Given the description of an element on the screen output the (x, y) to click on. 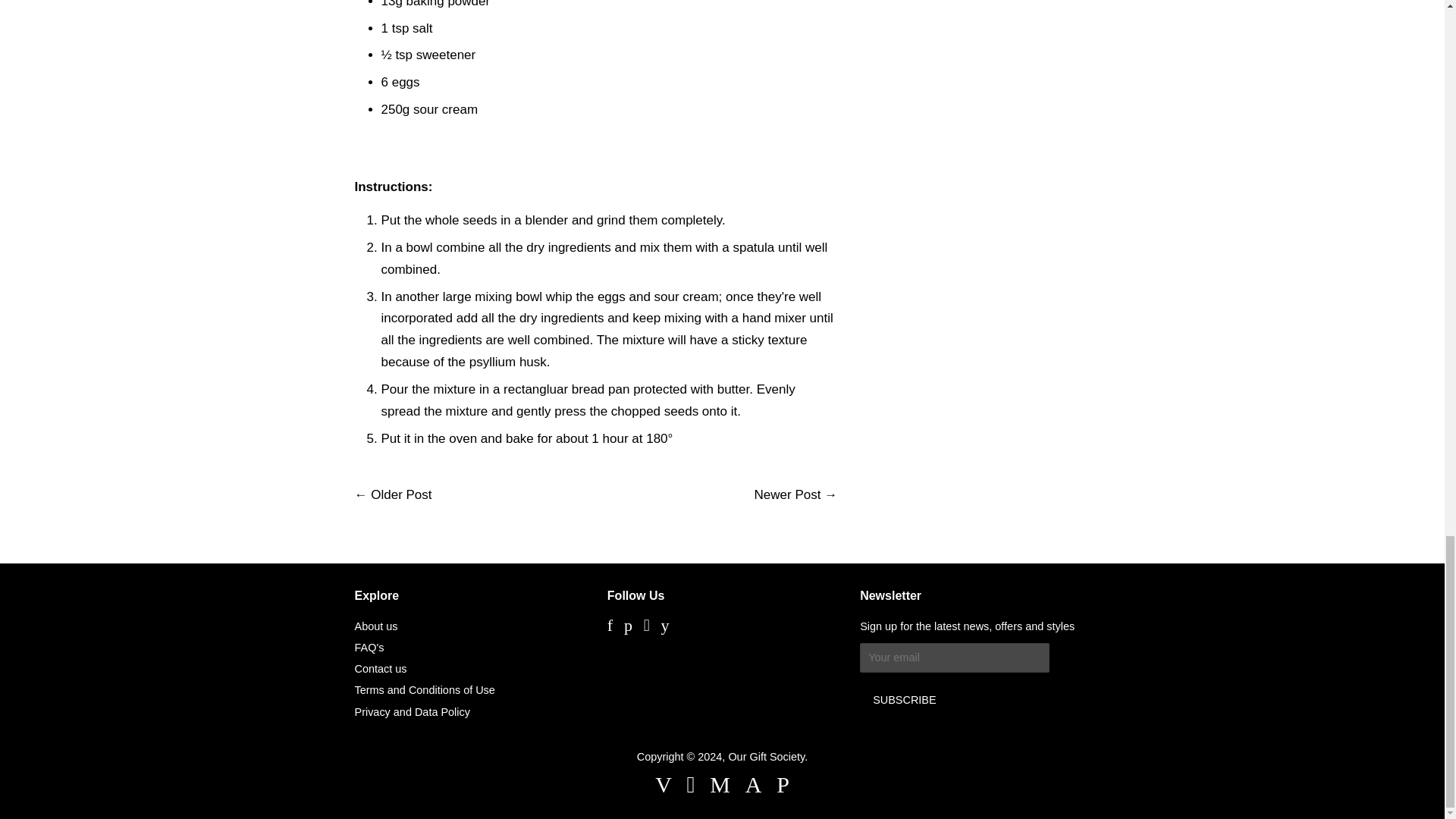
Subscribe (904, 699)
Newer Post (787, 494)
Privacy and Data Policy (412, 711)
FAQ's (369, 647)
Older Post (400, 494)
About us (376, 625)
Terms and Conditions of Use (425, 689)
Contact us (381, 668)
Subscribe (904, 699)
